Given the description of an element on the screen output the (x, y) to click on. 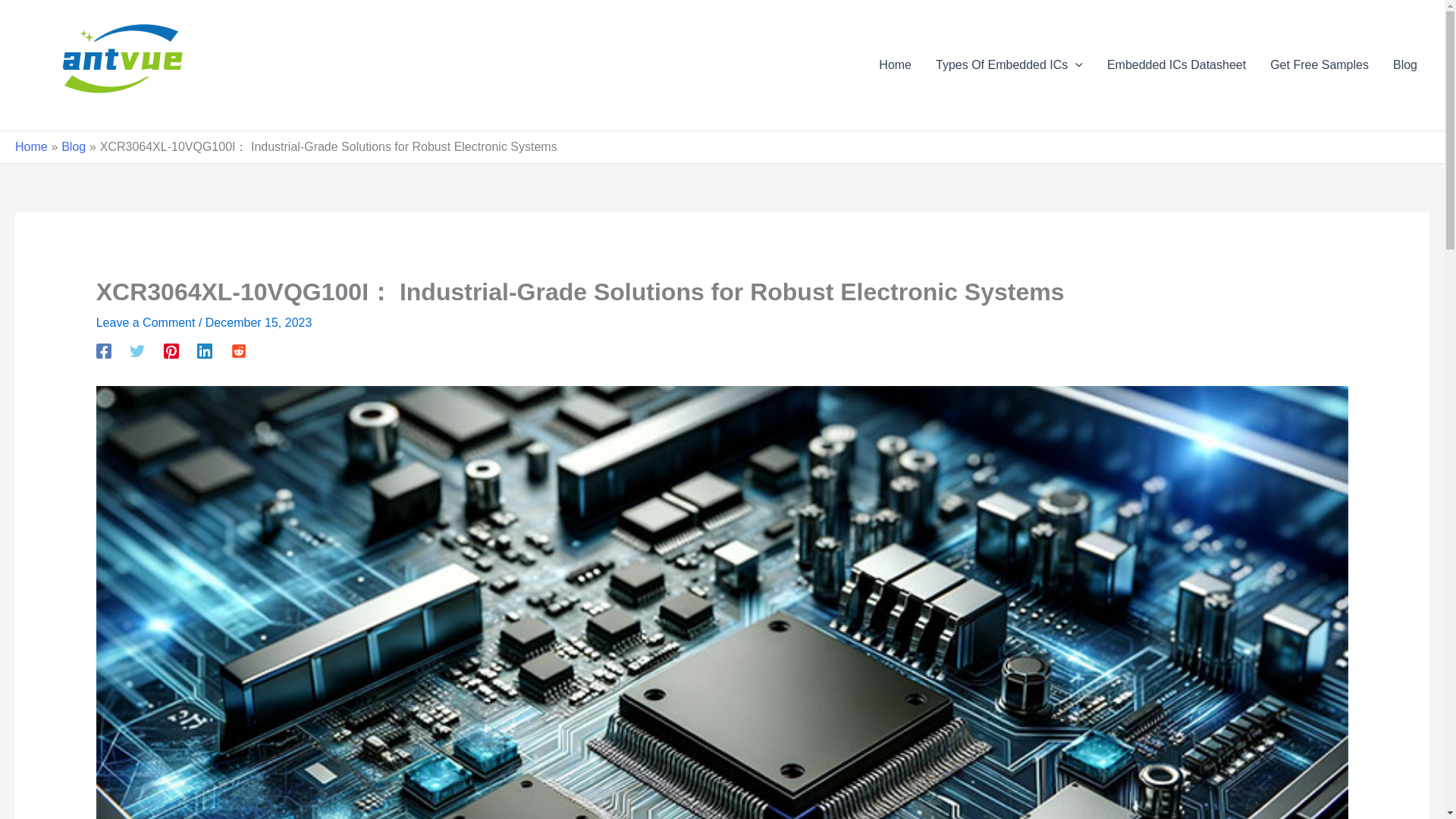
Get Free Samples (1318, 65)
Blog (1404, 65)
Blog (73, 146)
Home (31, 146)
Embedded ICs Datasheet (1175, 65)
Types Of Embedded ICs (1008, 65)
Leave a Comment (145, 322)
Home (894, 65)
